Given the description of an element on the screen output the (x, y) to click on. 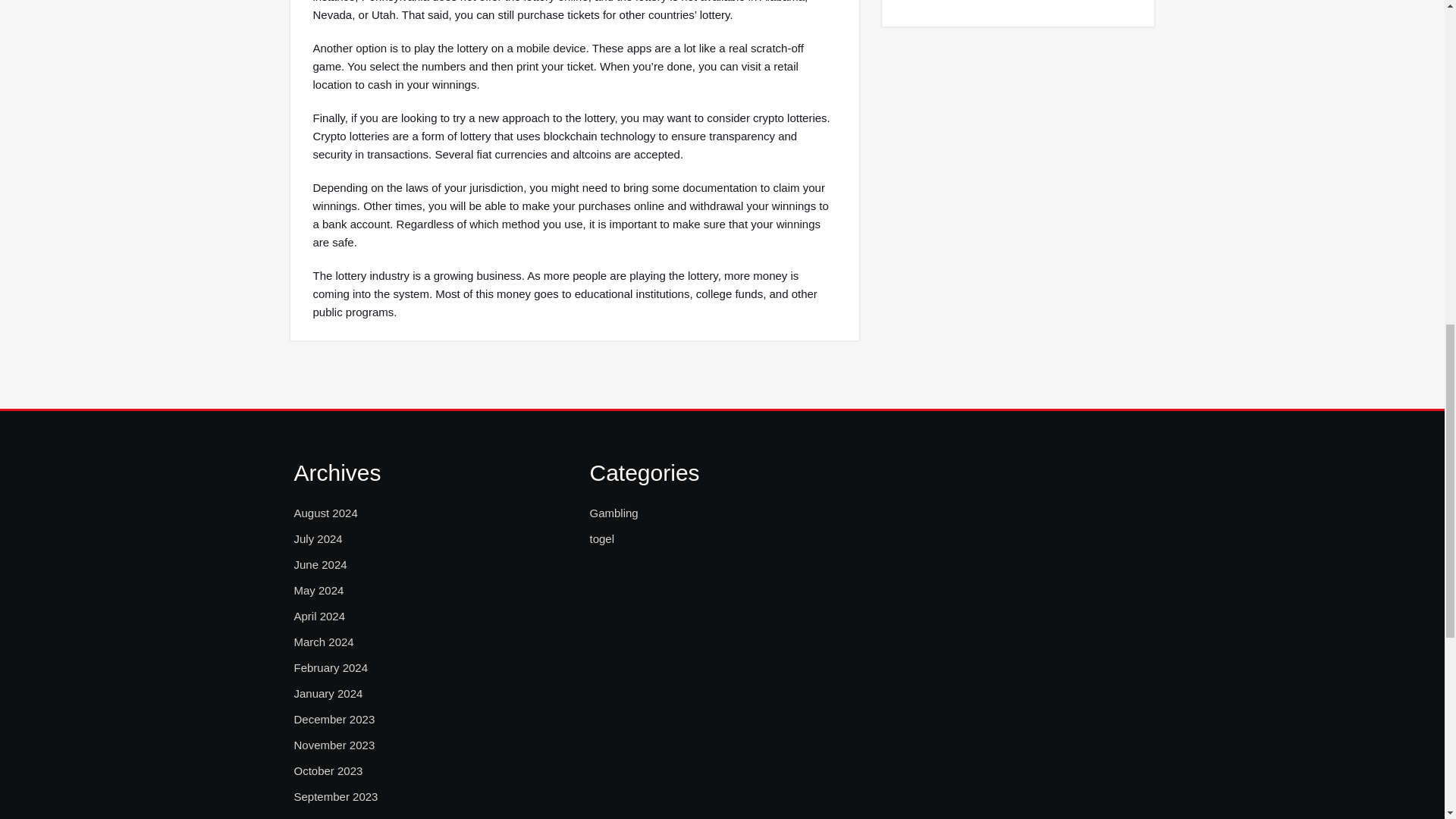
April 2024 (320, 616)
September 2023 (336, 796)
February 2024 (331, 668)
October 2023 (328, 771)
August 2024 (326, 513)
May 2024 (318, 590)
August 2023 (326, 816)
January 2024 (328, 693)
June 2024 (320, 565)
March 2024 (323, 642)
July 2024 (318, 538)
December 2023 (334, 719)
November 2023 (334, 745)
